Given the description of an element on the screen output the (x, y) to click on. 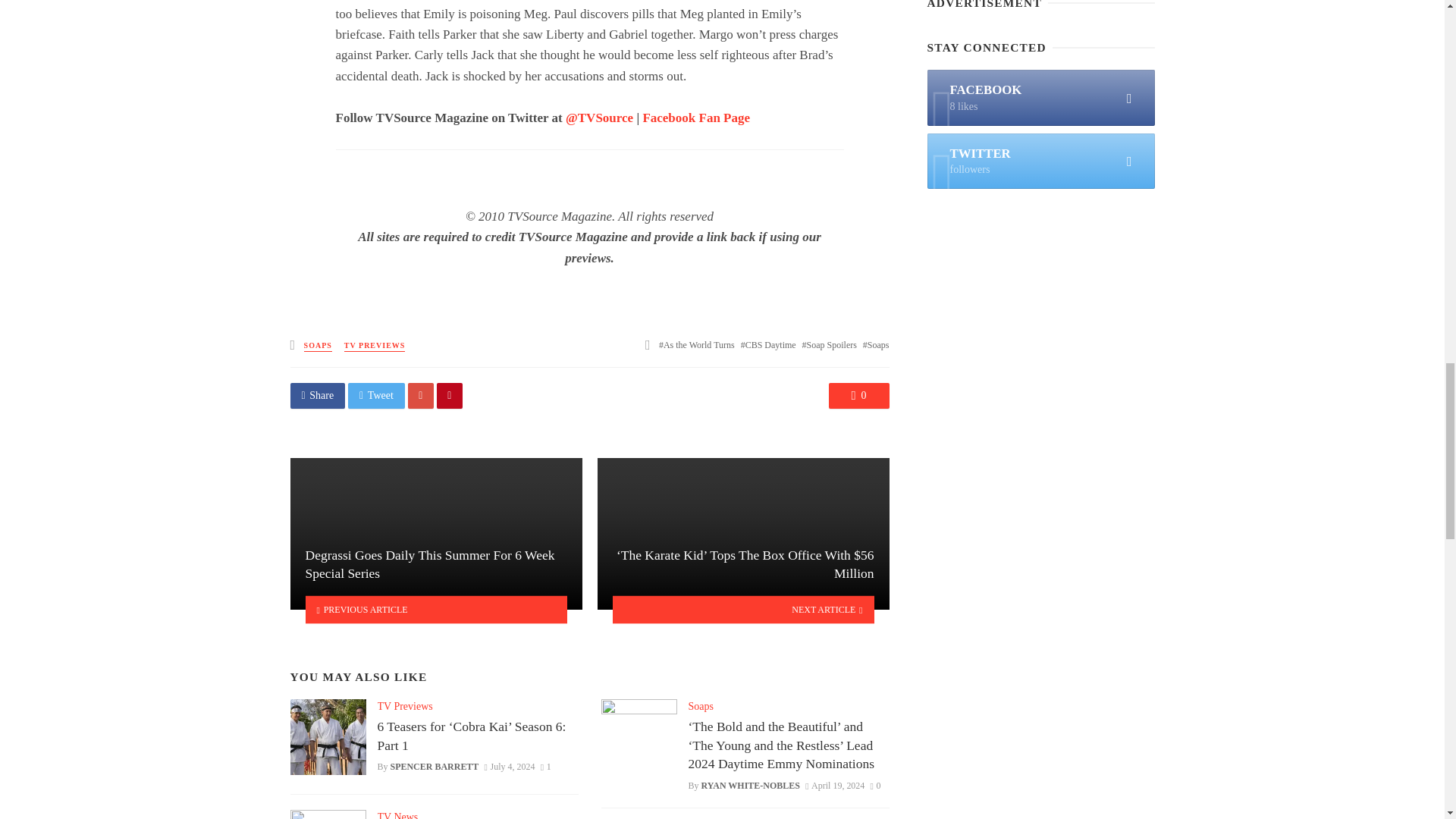
SOAPS (317, 346)
Soap Spoilers (829, 344)
0 Comments (858, 395)
July 4, 2024 at 3:43 pm (509, 766)
TV PREVIEWS (374, 346)
Share on Pinterest (449, 395)
Share on Facebook (317, 395)
CBS Daytime (768, 344)
As the World Turns (697, 344)
Share on Twitter (375, 395)
